Given the description of an element on the screen output the (x, y) to click on. 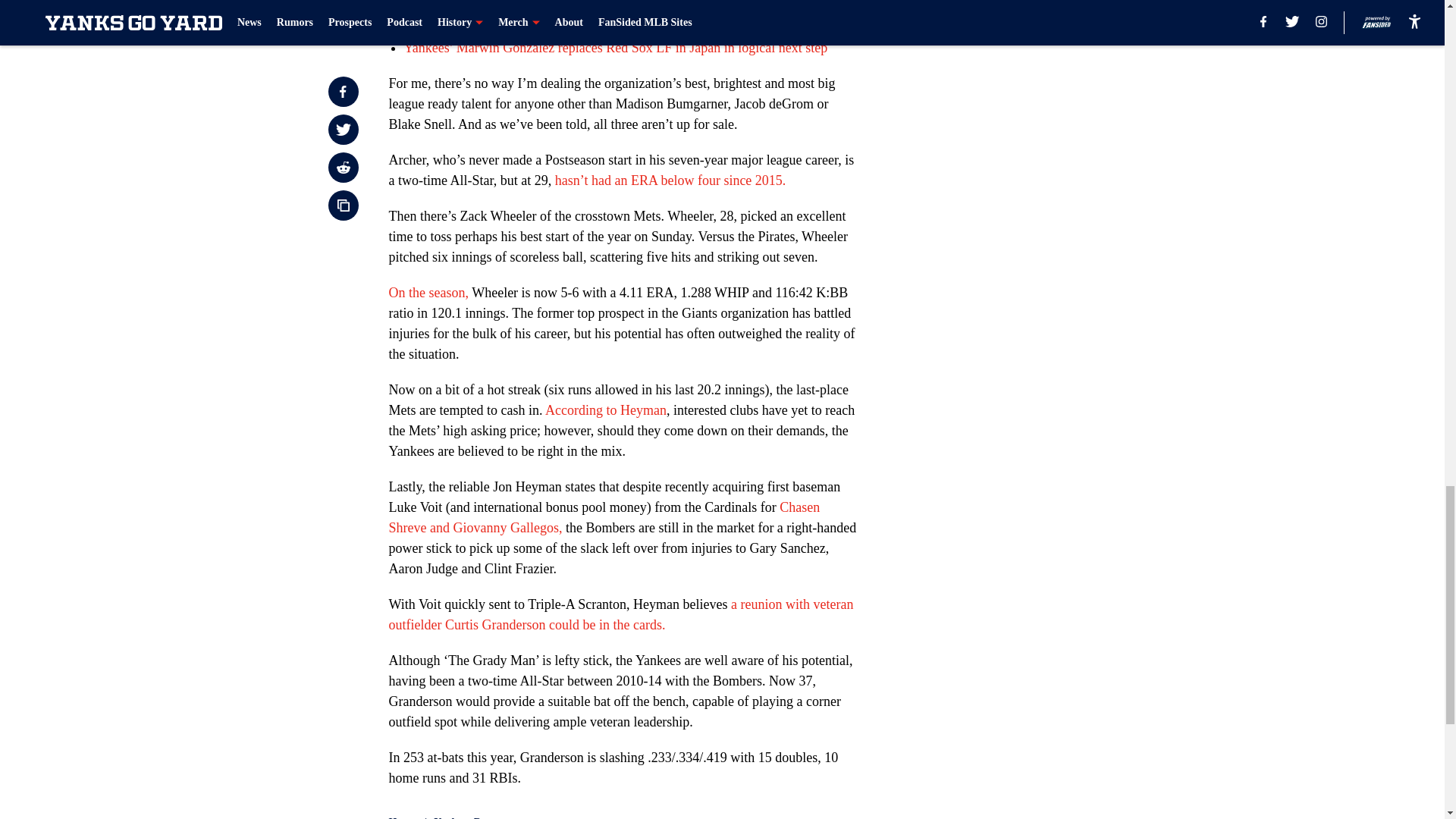
No, Yankees should not acquire Trevor Bauer for 2023 (552, 27)
Yankees Rumors (472, 816)
On the season, (427, 292)
Chasen Shreve and Giovanny Gallegos, (603, 517)
According to Heyman (605, 409)
Home (401, 816)
